Given the description of an element on the screen output the (x, y) to click on. 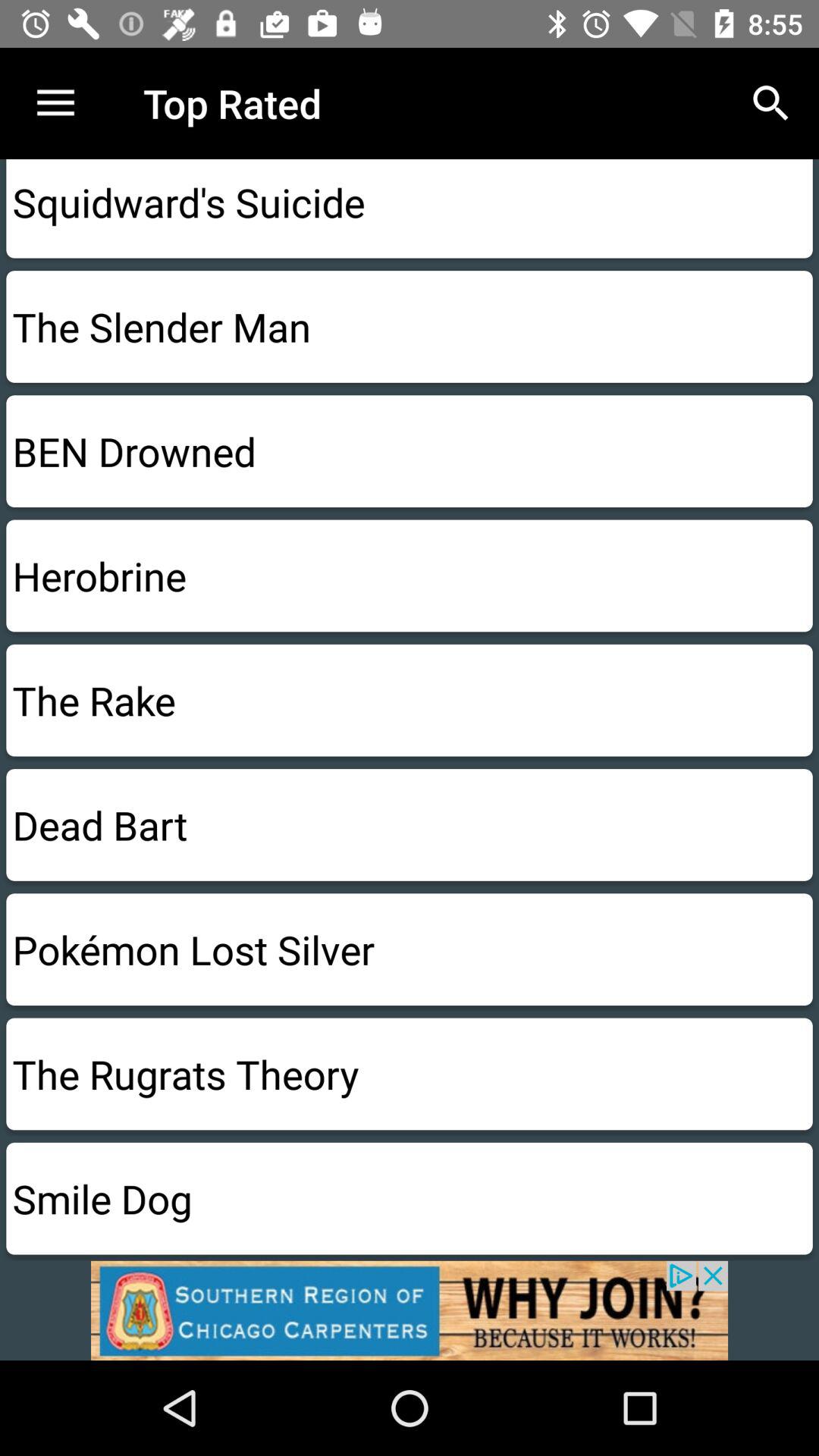
click on the advertisement (409, 1310)
